Given the description of an element on the screen output the (x, y) to click on. 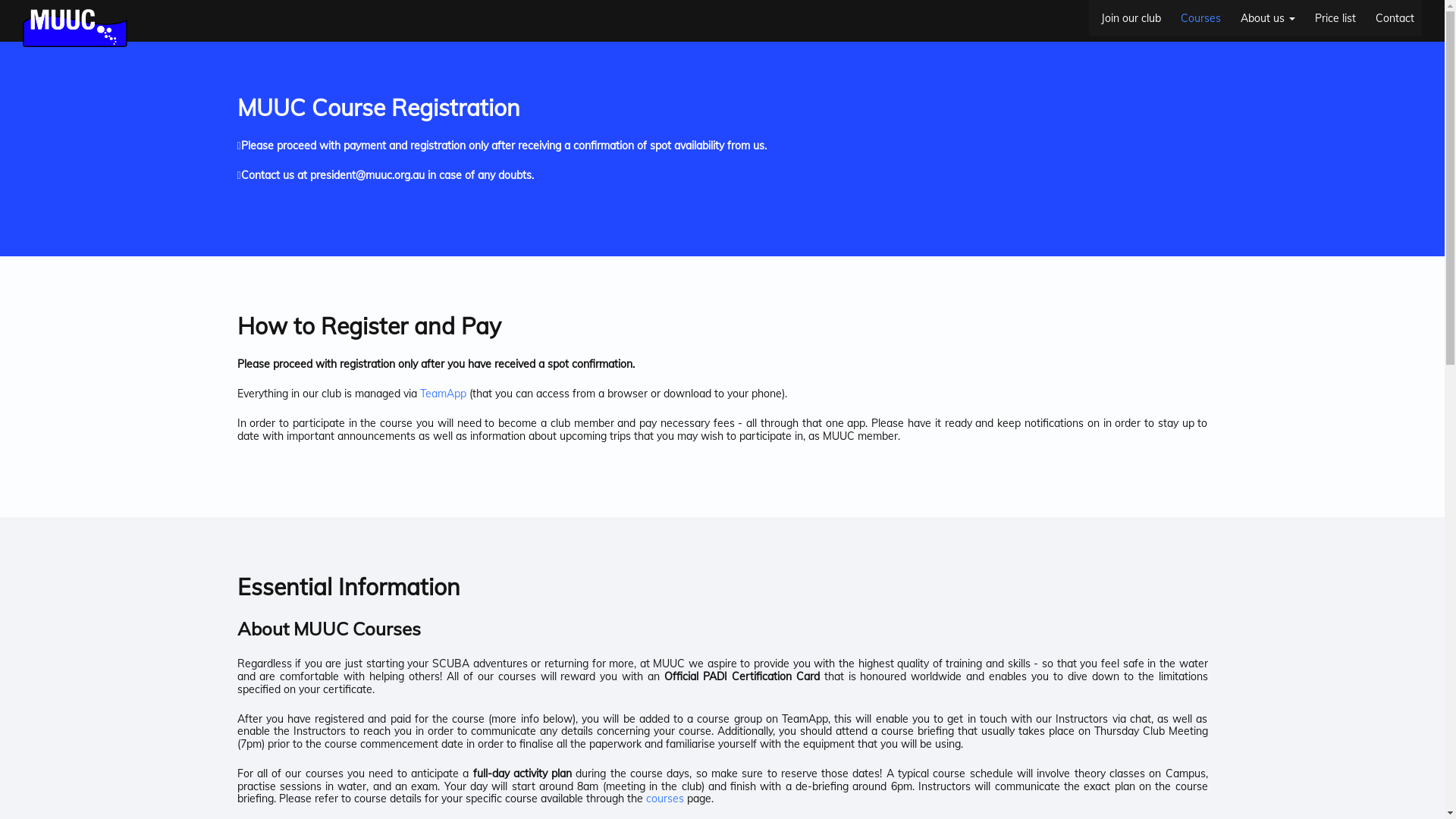
Contact Element type: text (1392, 18)
About us Element type: text (1265, 18)
courses Element type: text (665, 798)
Price list Element type: text (1332, 18)
Join our club Element type: text (1128, 18)
TeamApp Element type: text (443, 393)
Courses Element type: text (1198, 18)
